Given the description of an element on the screen output the (x, y) to click on. 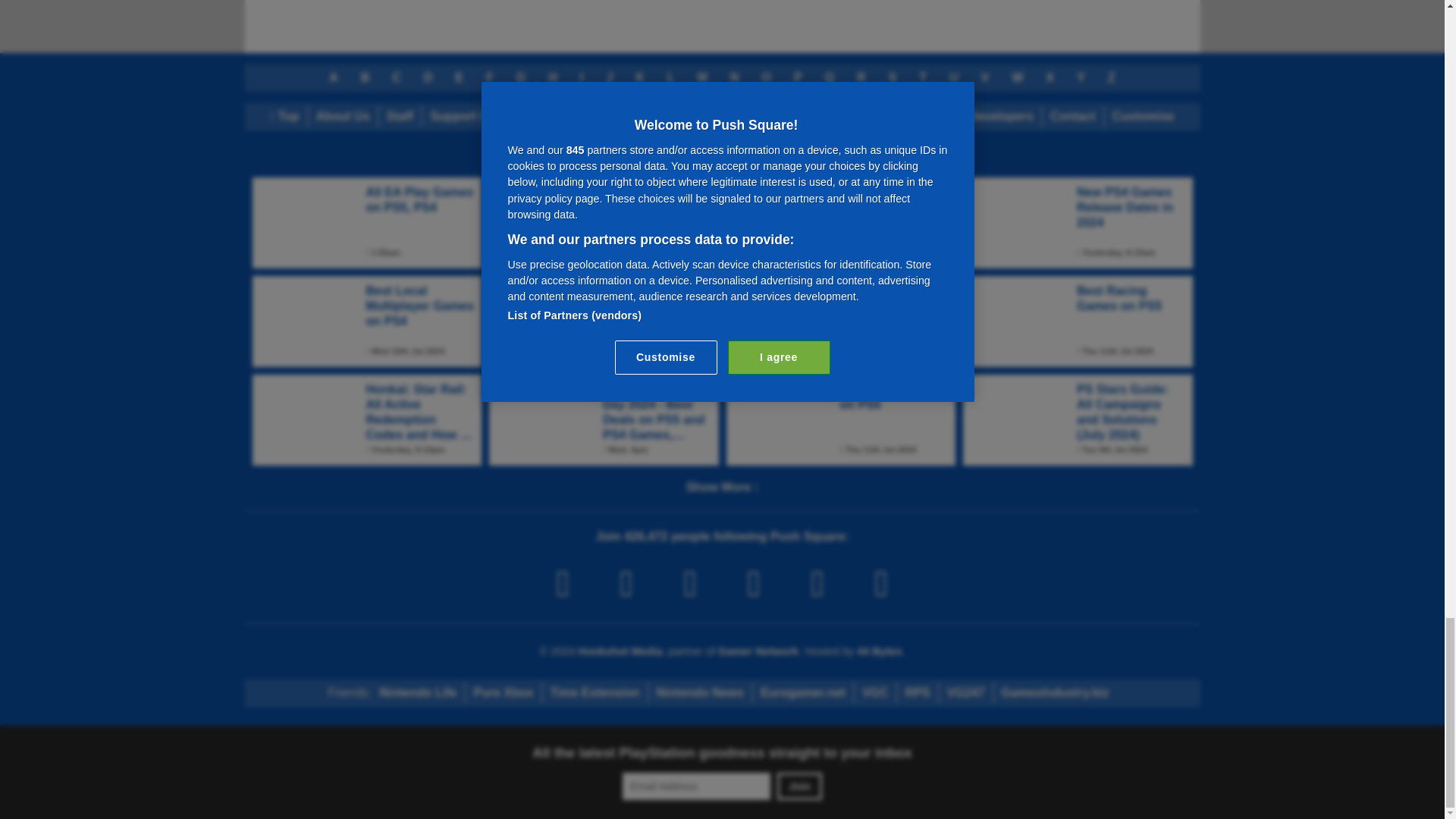
Join (799, 786)
